Given the description of an element on the screen output the (x, y) to click on. 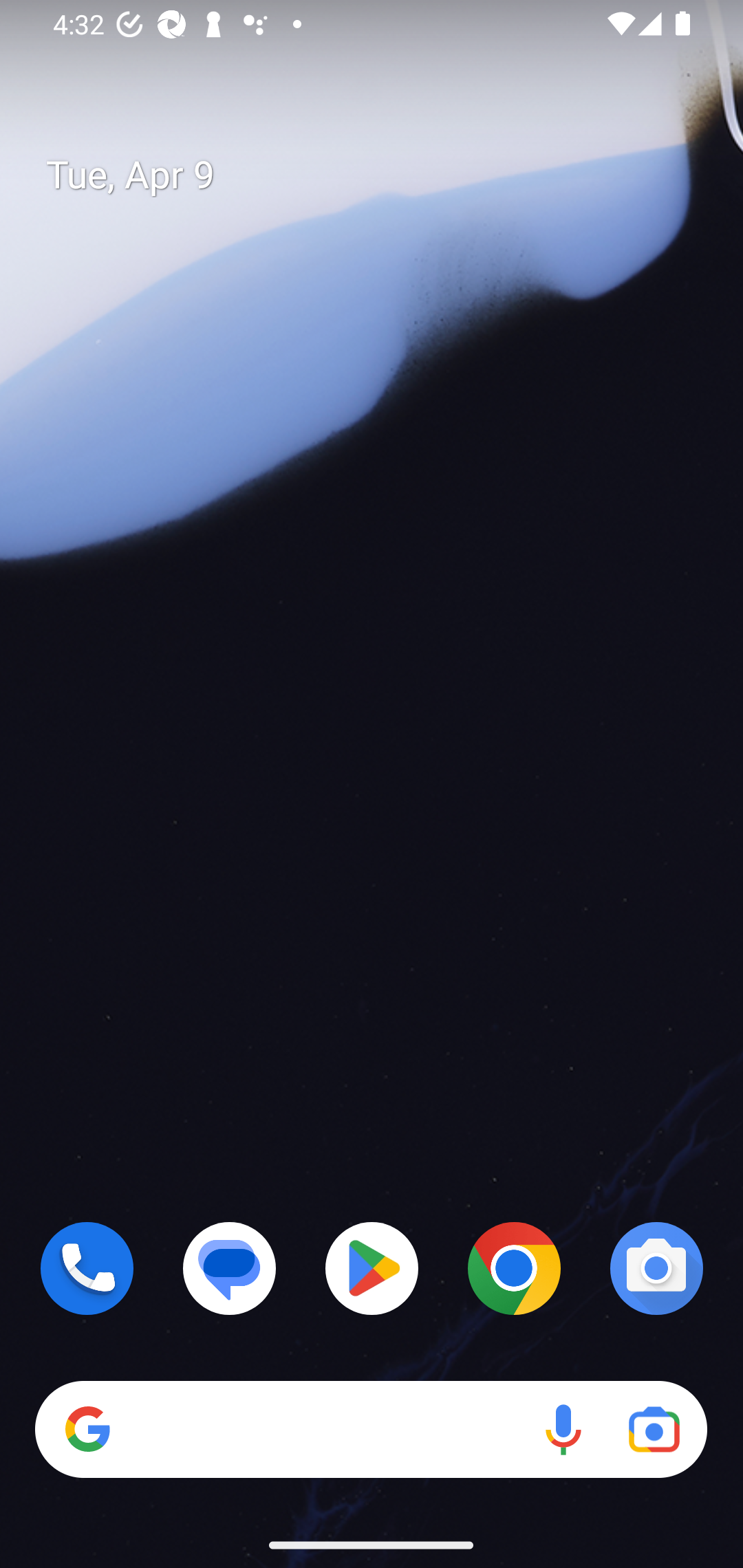
Tue, Apr 9 (386, 175)
Phone (86, 1268)
Messages (229, 1268)
Play Store (371, 1268)
Chrome (513, 1268)
Camera (656, 1268)
Voice search (562, 1429)
Google Lens (653, 1429)
